Given the description of an element on the screen output the (x, y) to click on. 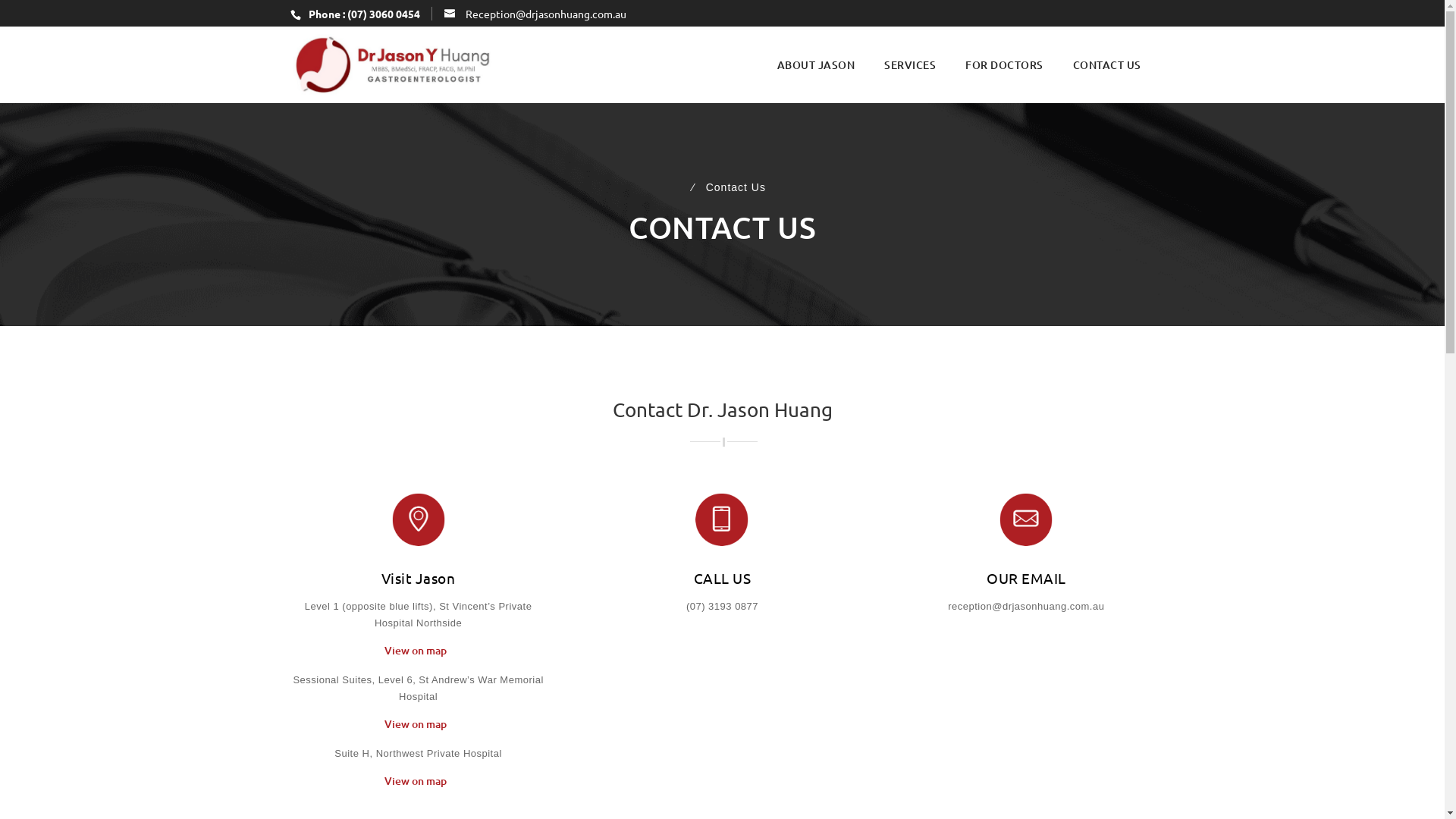
icon2 Element type: hover (721, 519)
View on map Element type: text (417, 656)
reception@drjasonhuang.com.au Element type: text (1025, 605)
Reception@drjasonhuang.com.au Element type: text (535, 12)
icon3 Element type: hover (1025, 519)
(07) 3193 0877 Element type: text (722, 605)
SERVICES Element type: text (909, 64)
CONTACT US Element type: text (1106, 64)
Go to . Element type: hover (682, 187)
View on map Element type: text (417, 786)
ABOUT JASON Element type: text (815, 64)
View on map Element type: text (417, 730)
icon1 Element type: hover (418, 519)
FOR DOCTORS Element type: text (1004, 64)
